Given the description of an element on the screen output the (x, y) to click on. 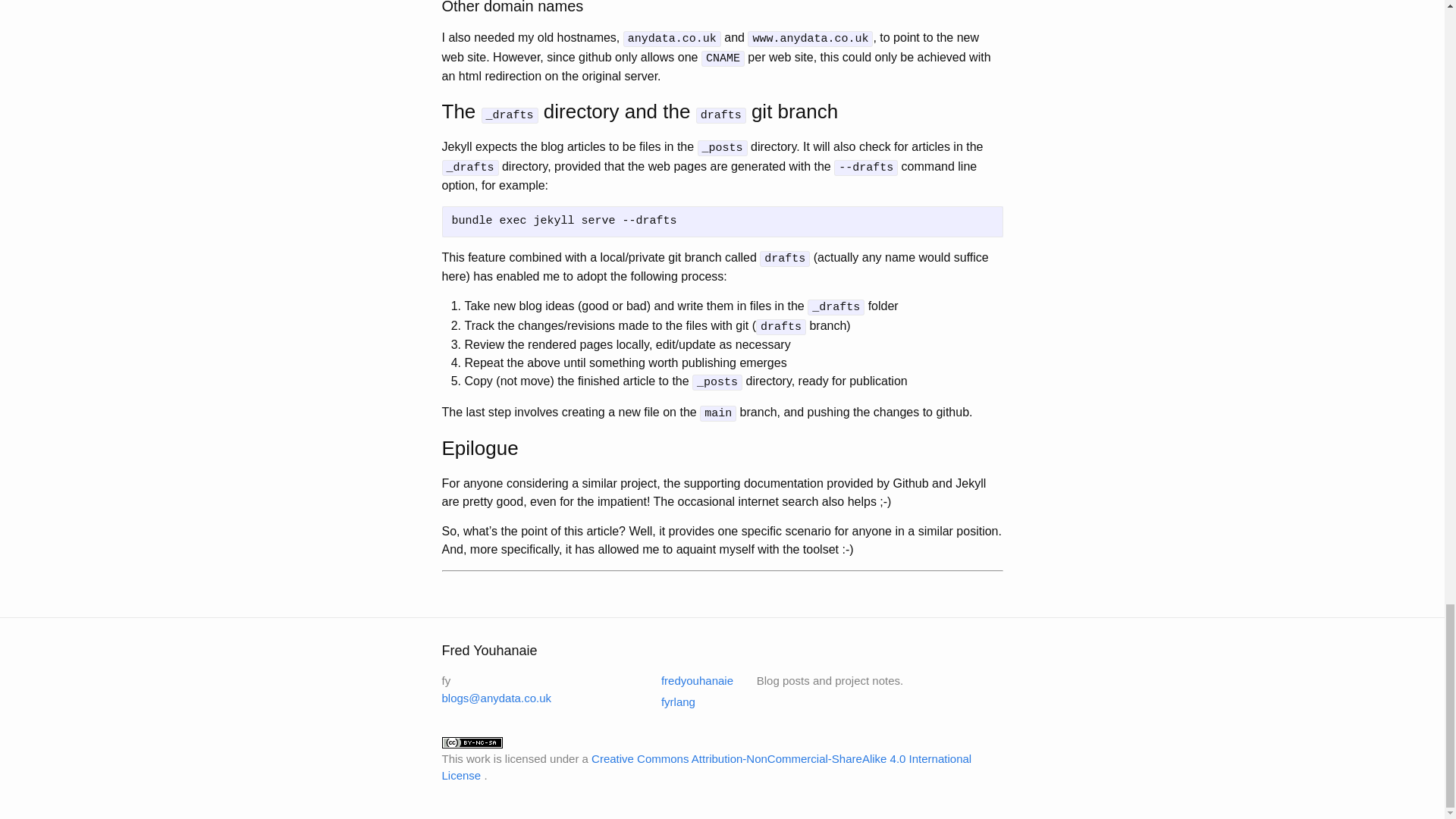
fyrlang (668, 701)
fredyouhanaie (687, 680)
